Given the description of an element on the screen output the (x, y) to click on. 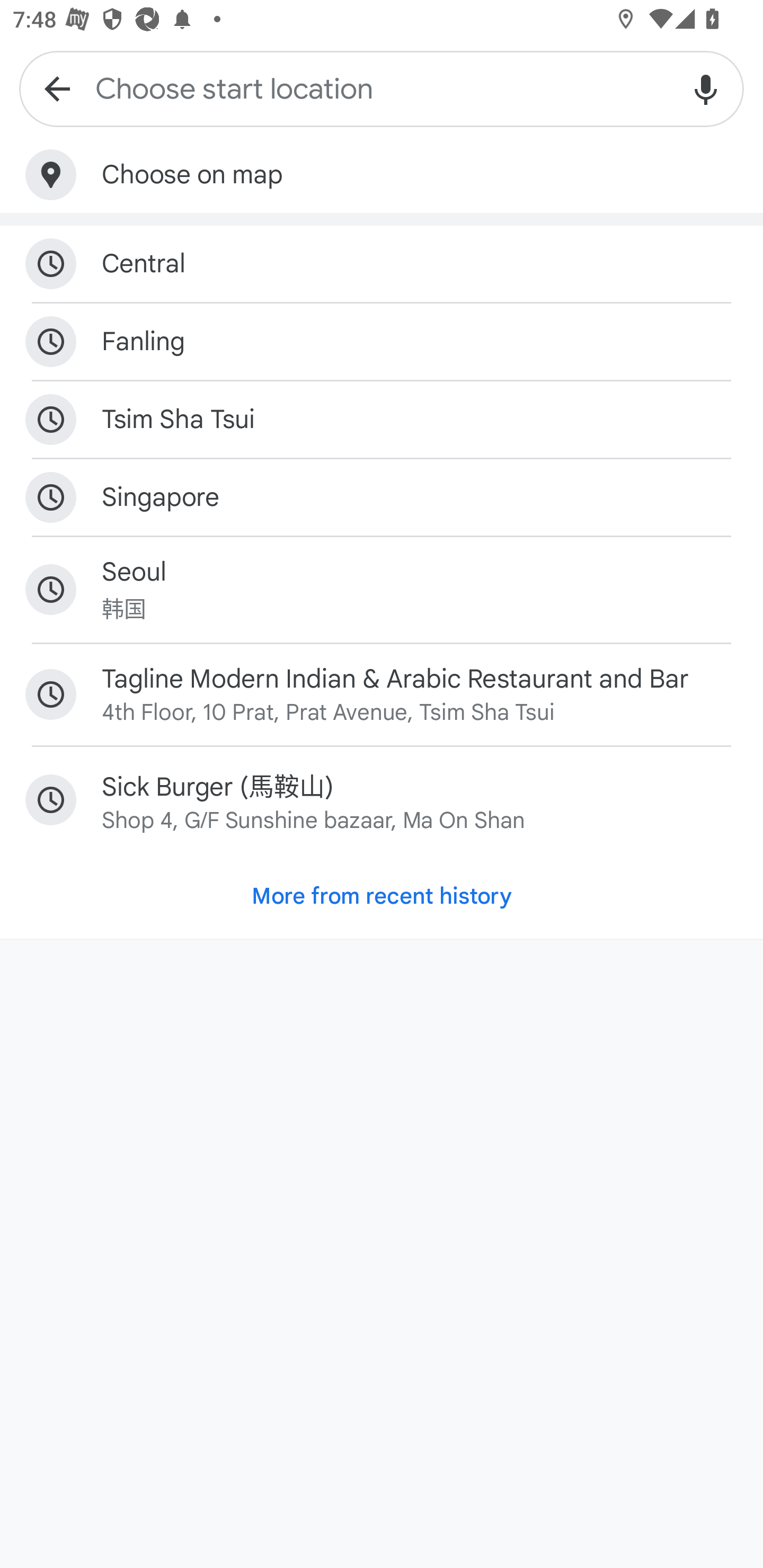
Navigate up (57, 88)
Choose start location (381, 88)
Voice search (705, 88)
Choose on map (381, 174)
Central (381, 263)
Fanling (381, 341)
Tsim Sha Tsui (381, 419)
Singapore (381, 497)
Seoul 韩国 (381, 589)
More from recent history (381, 895)
